Given the description of an element on the screen output the (x, y) to click on. 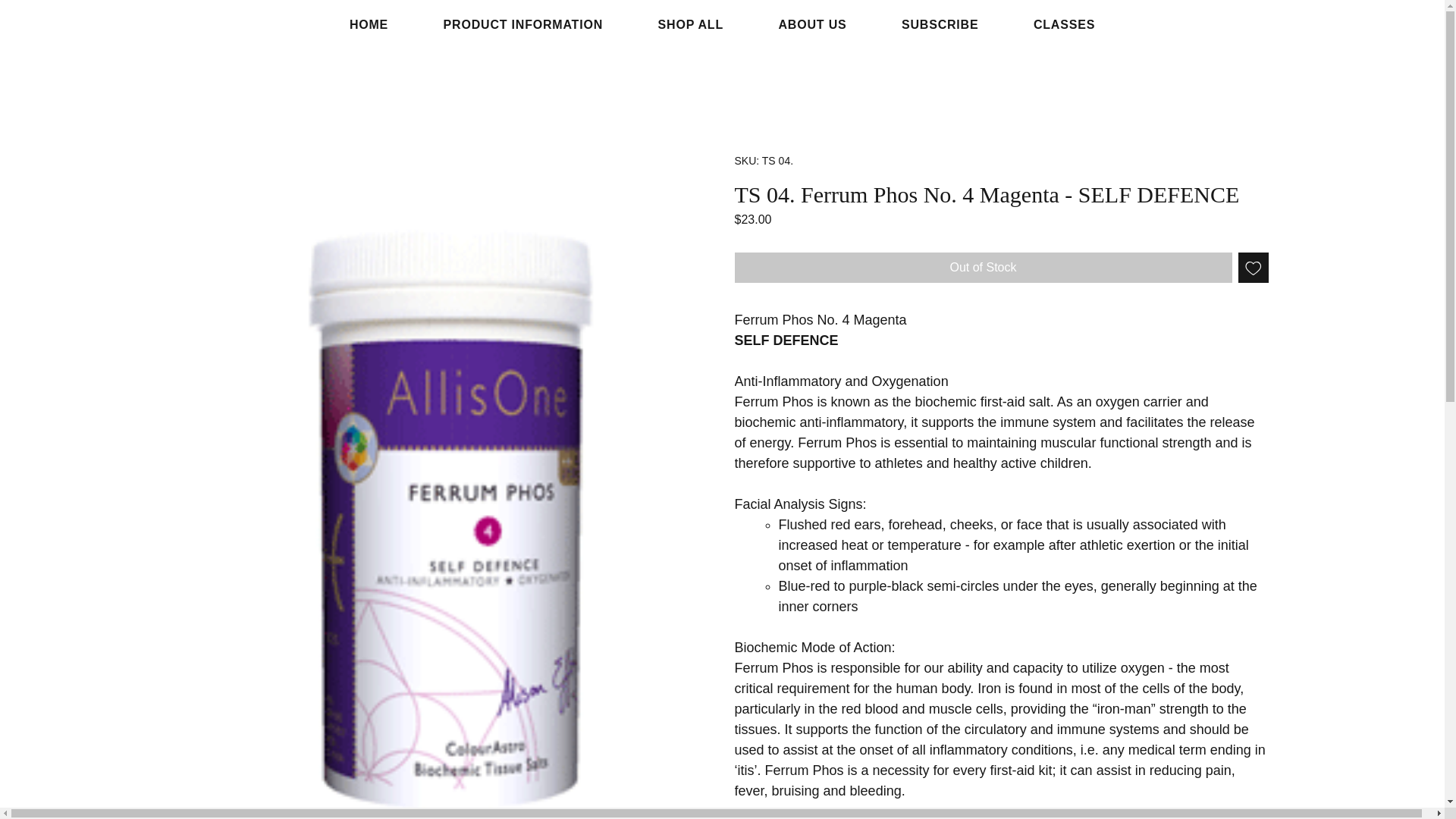
SUBSCRIBE (940, 24)
Out of Stock (982, 267)
SHOP ALL (690, 24)
HOME (368, 24)
